Given the description of an element on the screen output the (x, y) to click on. 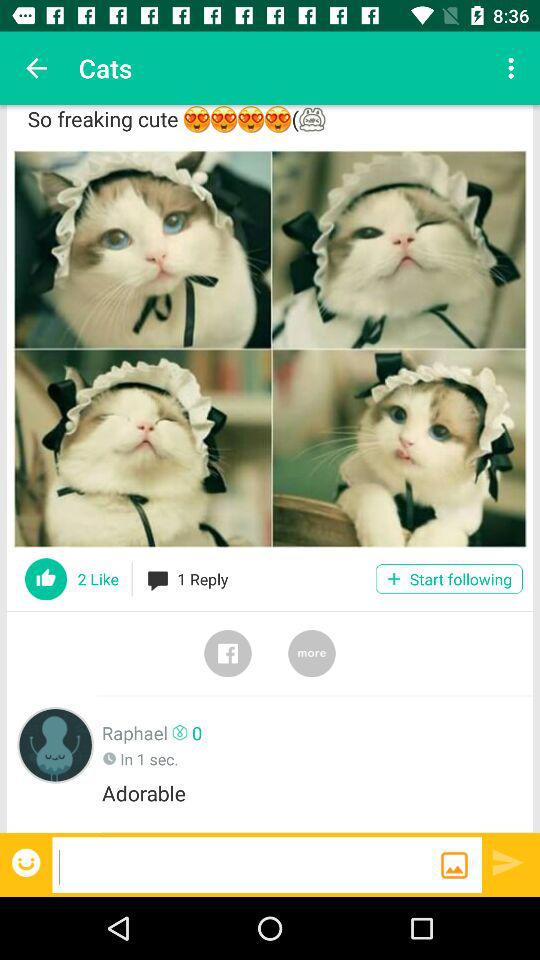
like page (46, 579)
